Given the description of an element on the screen output the (x, y) to click on. 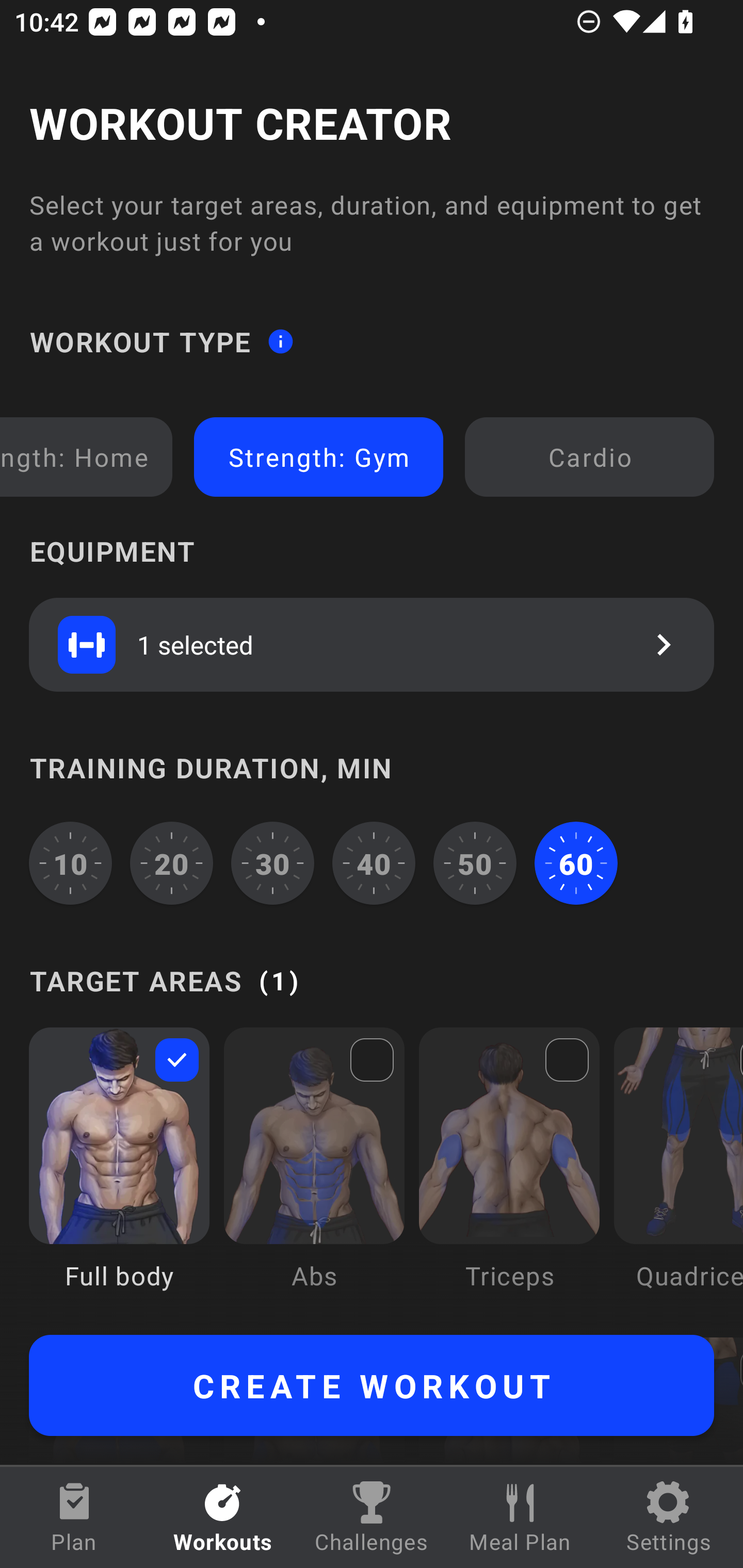
Workout type information button (280, 340)
Strength: Home (82, 457)
Cardio (588, 457)
1 selected (371, 644)
10 (70, 863)
20 (171, 863)
30 (272, 863)
40 (373, 863)
50 (474, 863)
60 (575, 863)
Abs (313, 1172)
Triceps (509, 1172)
Quadriceps (678, 1172)
CREATE WORKOUT (371, 1385)
 Plan  (74, 1517)
 Challenges  (371, 1517)
 Meal Plan  (519, 1517)
 Settings  (668, 1517)
